Given the description of an element on the screen output the (x, y) to click on. 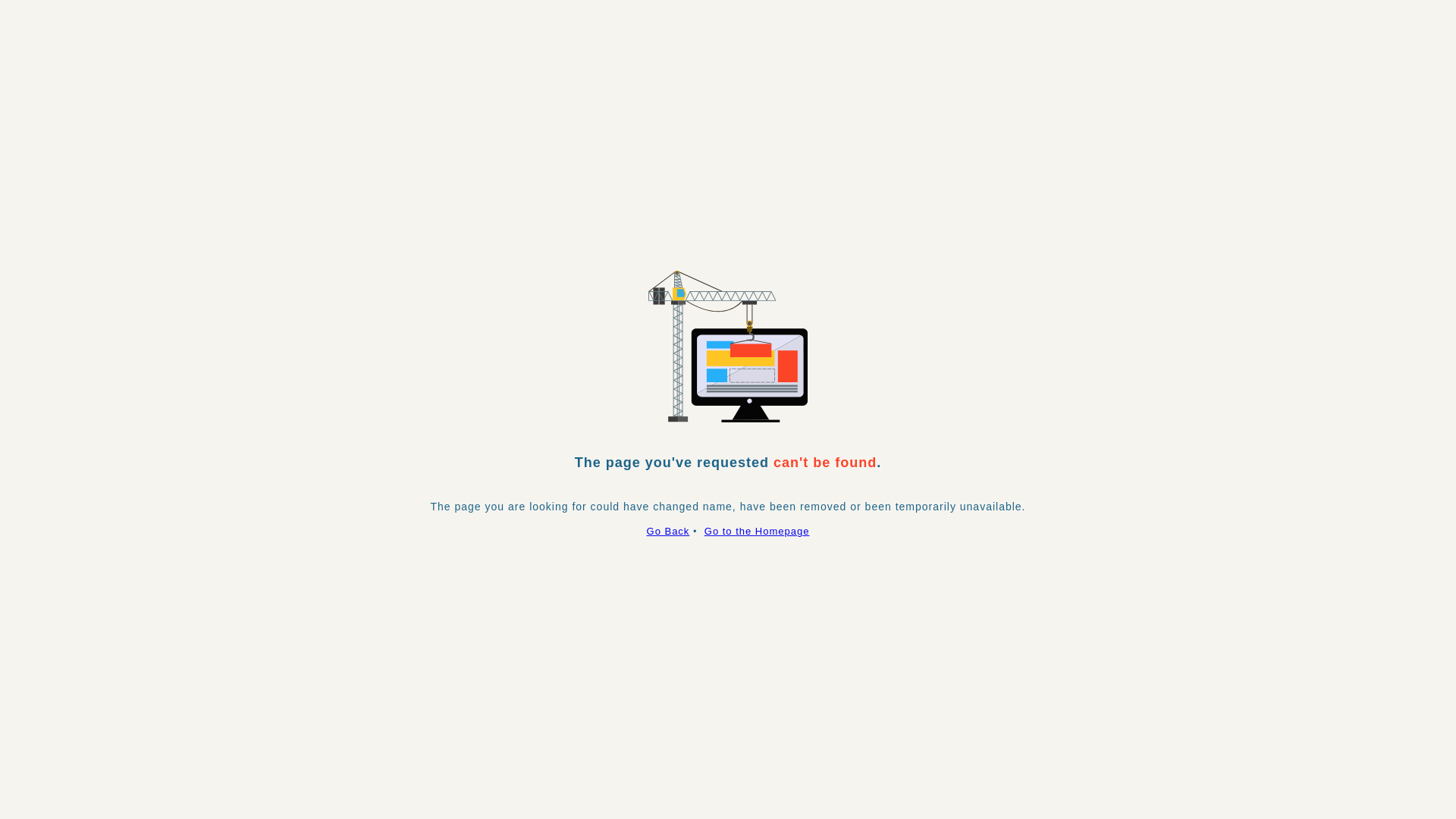
Go Back Element type: text (668, 530)
Go to the Homepage Element type: text (756, 530)
